Given the description of an element on the screen output the (x, y) to click on. 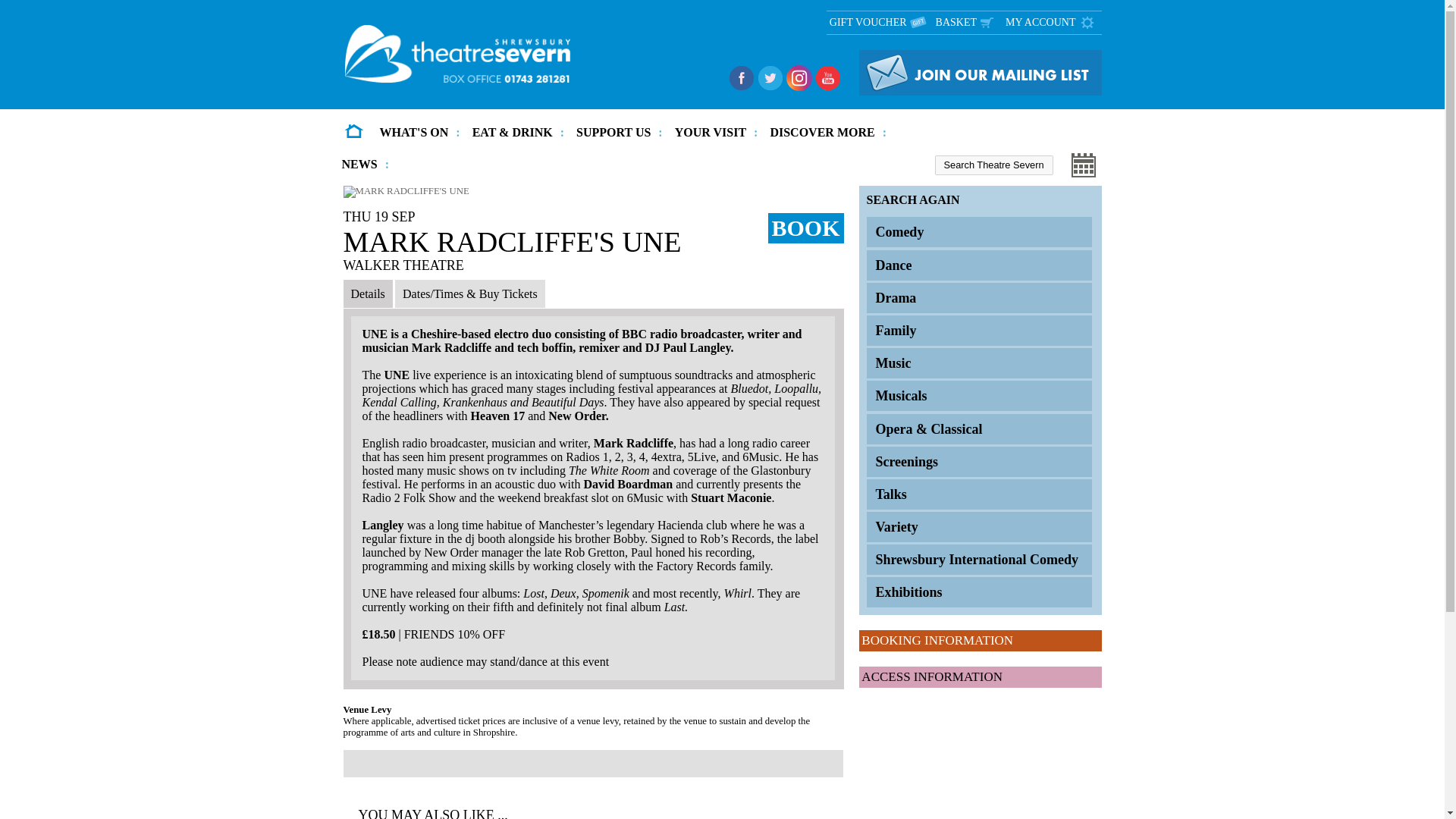
SUPPORT US (619, 132)
WHAT'S ON (418, 132)
MY ACCOUNT (1053, 22)
HOME (353, 132)
BASKET (969, 22)
Join Our Mailing List (979, 91)
YOUR VISIT (716, 132)
GIFT VOUCHER (881, 22)
Search Theatre Severn (993, 165)
